Given the description of an element on the screen output the (x, y) to click on. 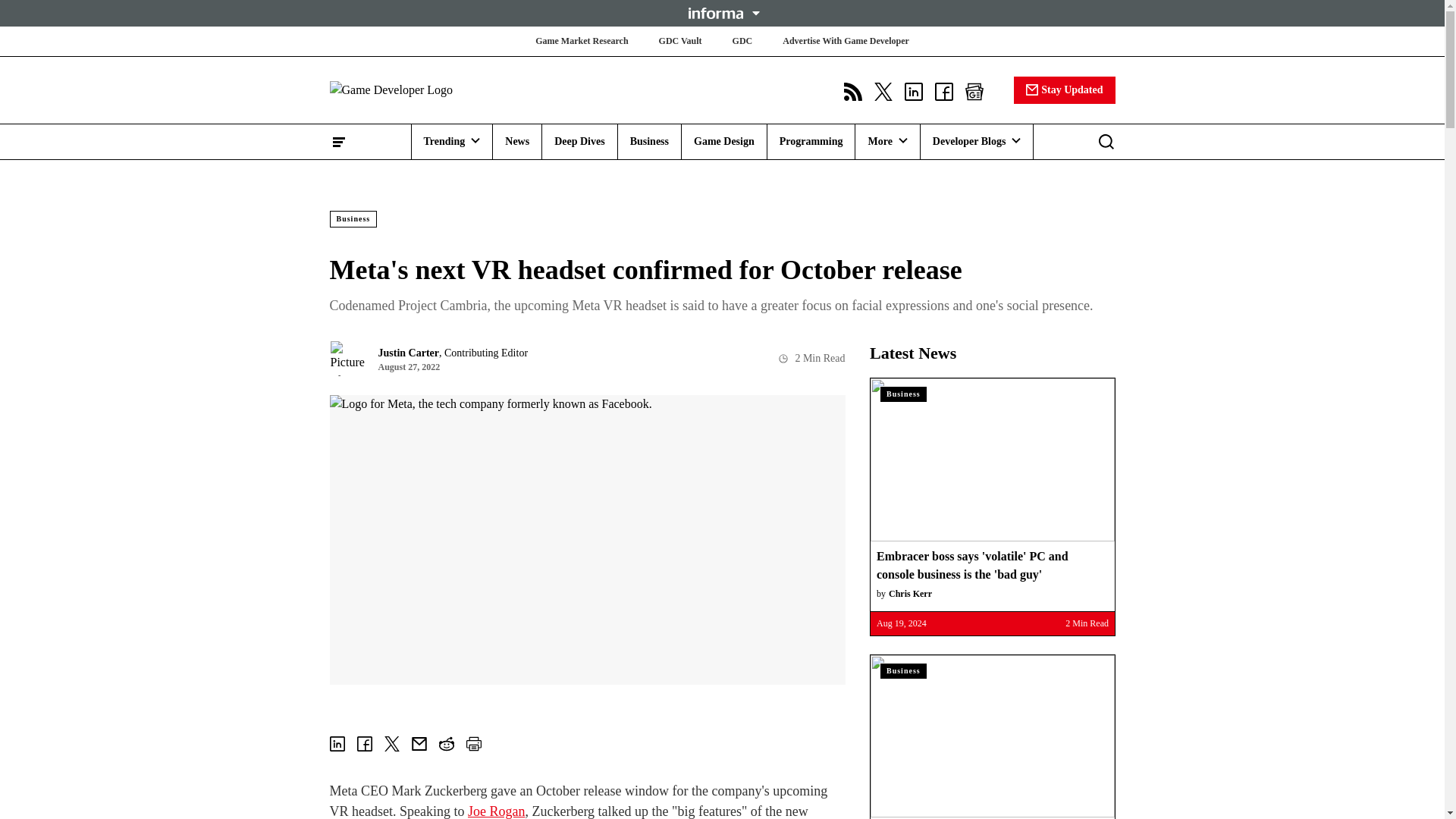
Business (649, 141)
GDC Vault (680, 41)
Programming (810, 141)
Deep Dives (579, 141)
Game Developer Logo (419, 90)
News (517, 141)
Picture of Justin Carter (347, 358)
Game Market Research (581, 41)
GDC (742, 41)
